Given the description of an element on the screen output the (x, y) to click on. 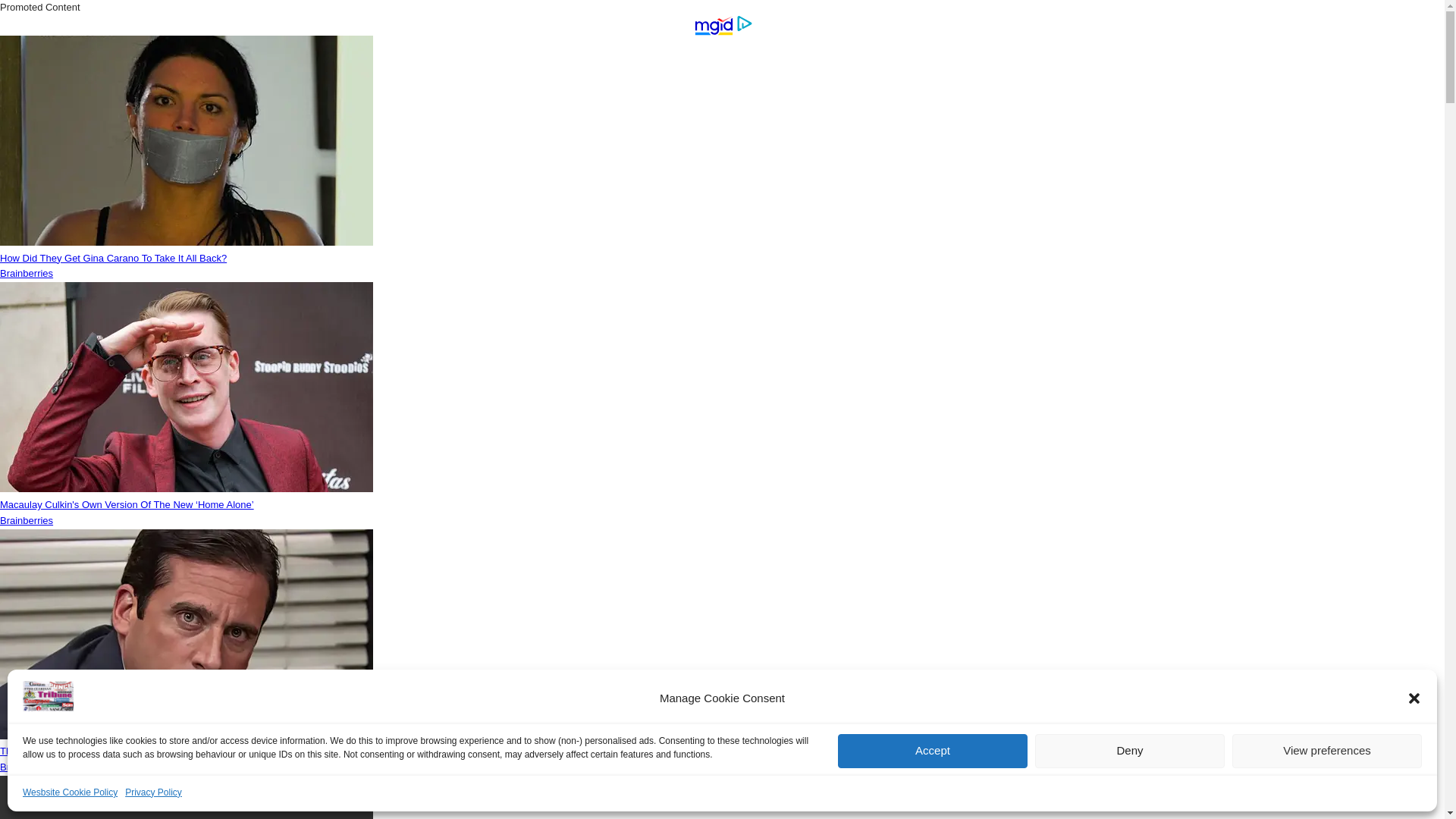
Wesbsite Cookie Policy (70, 792)
Accept (932, 750)
View preferences (1326, 750)
Deny (1129, 750)
Privacy Policy (153, 792)
